Given the description of an element on the screen output the (x, y) to click on. 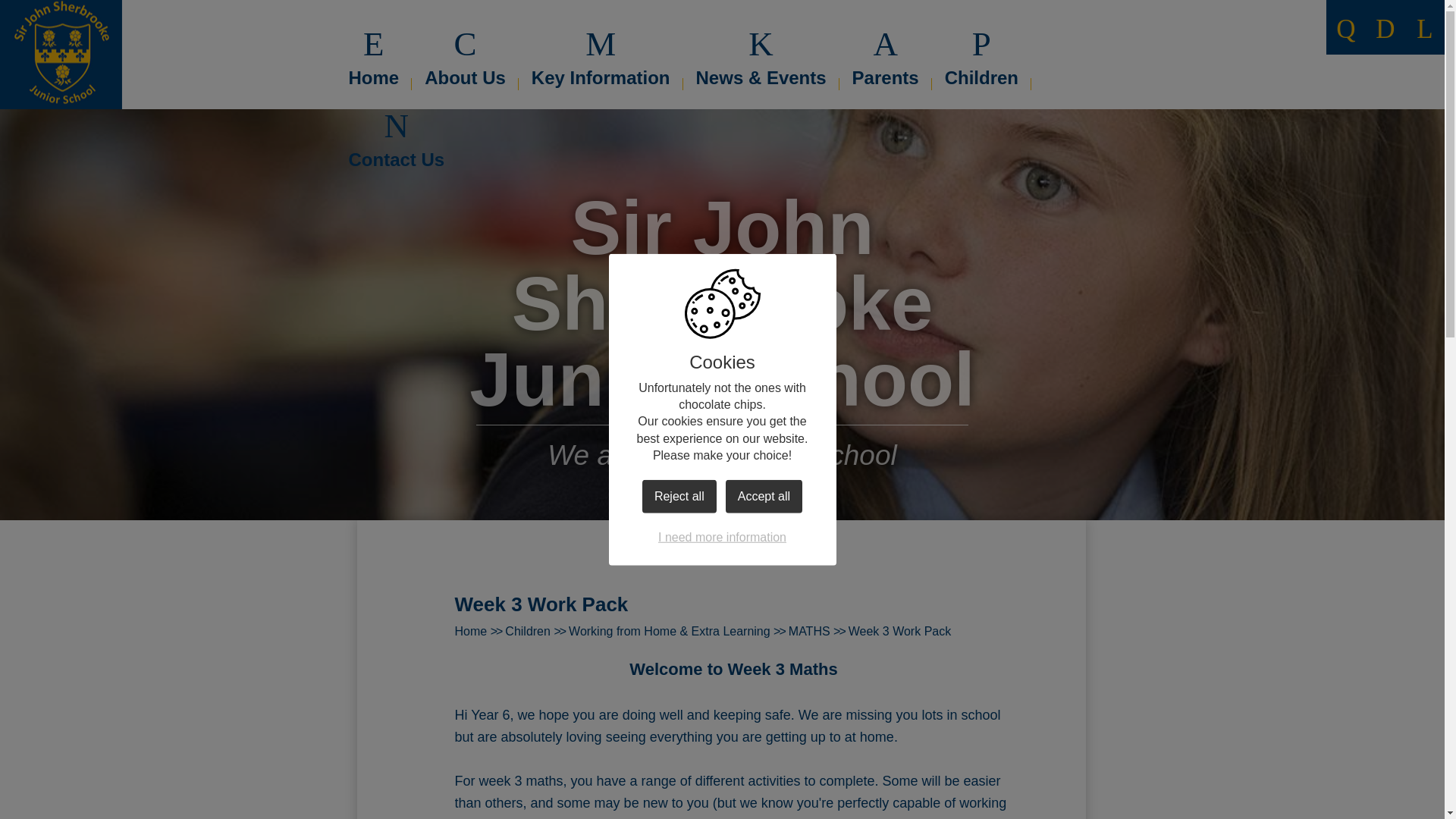
MATHS (809, 631)
Home (470, 631)
About Us (465, 45)
Children (527, 631)
Key Information (600, 45)
Home (373, 45)
Week 3 Work Pack (899, 631)
Home Page (61, 54)
Home Page (61, 54)
